Given the description of an element on the screen output the (x, y) to click on. 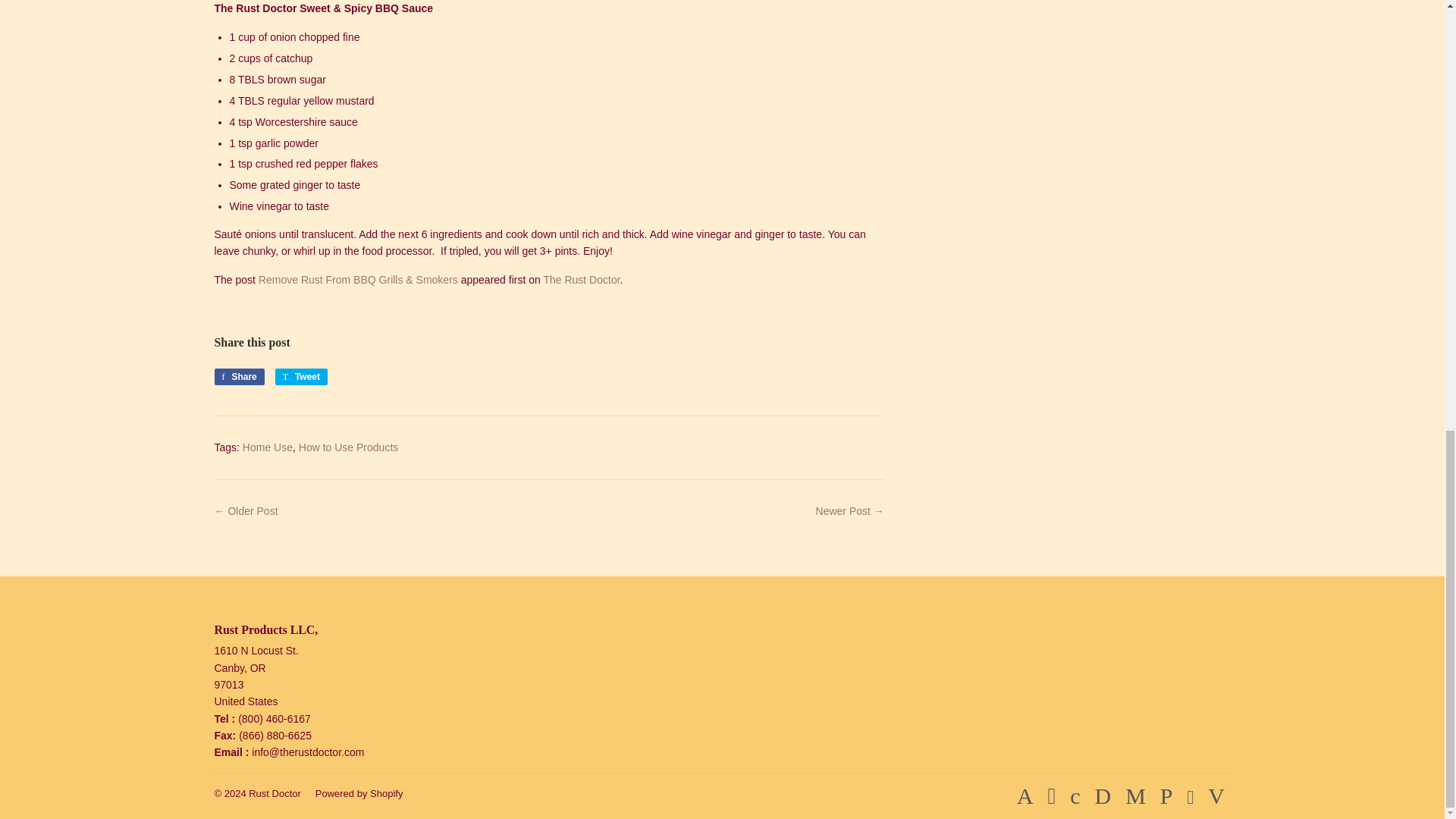
Tweet on Twitter (301, 376)
Share on Facebook (238, 376)
